Given the description of an element on the screen output the (x, y) to click on. 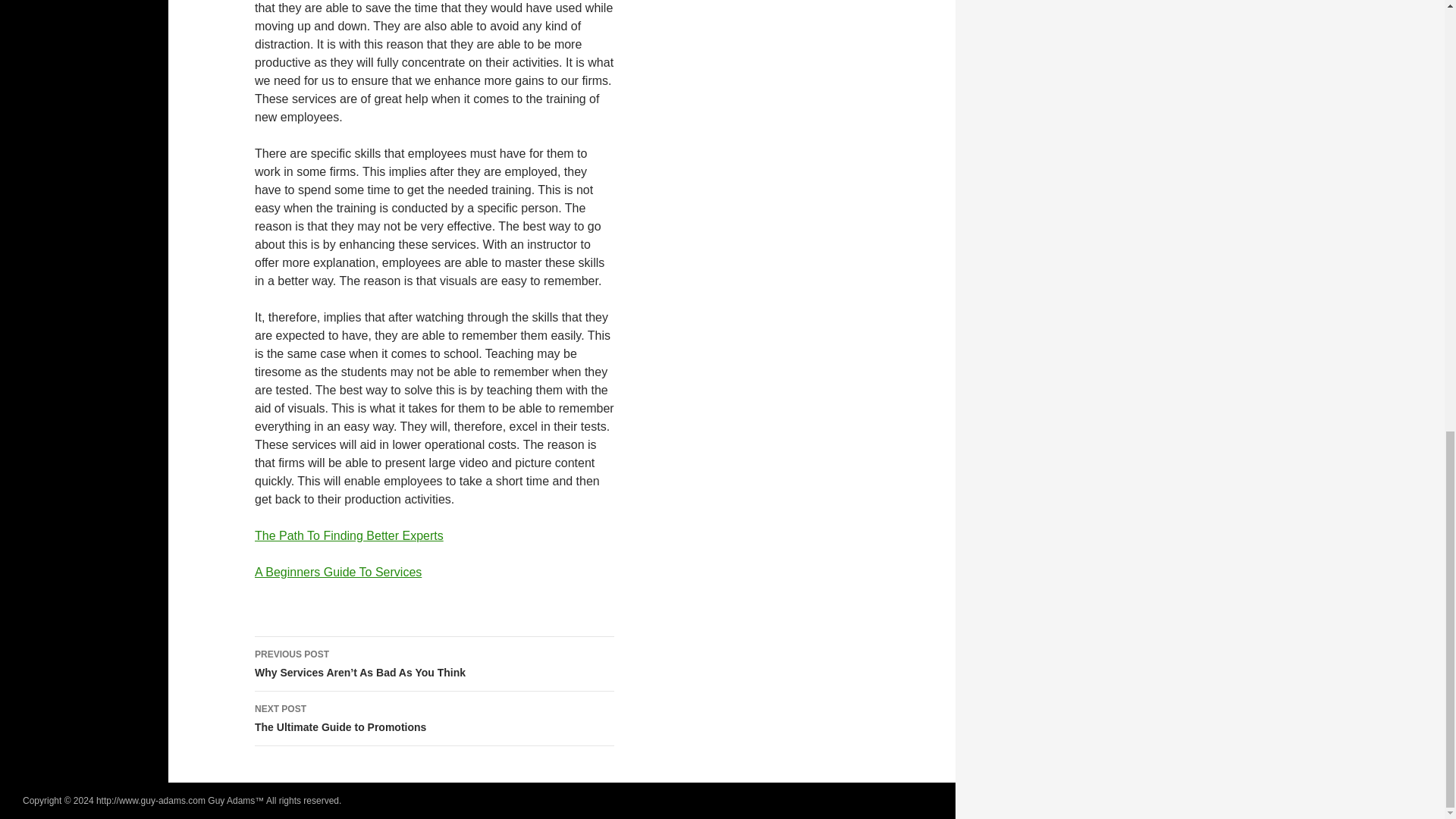
Guy Adams (231, 800)
A Beginners Guide To Services (338, 571)
The Path To Finding Better Experts (349, 535)
